Given the description of an element on the screen output the (x, y) to click on. 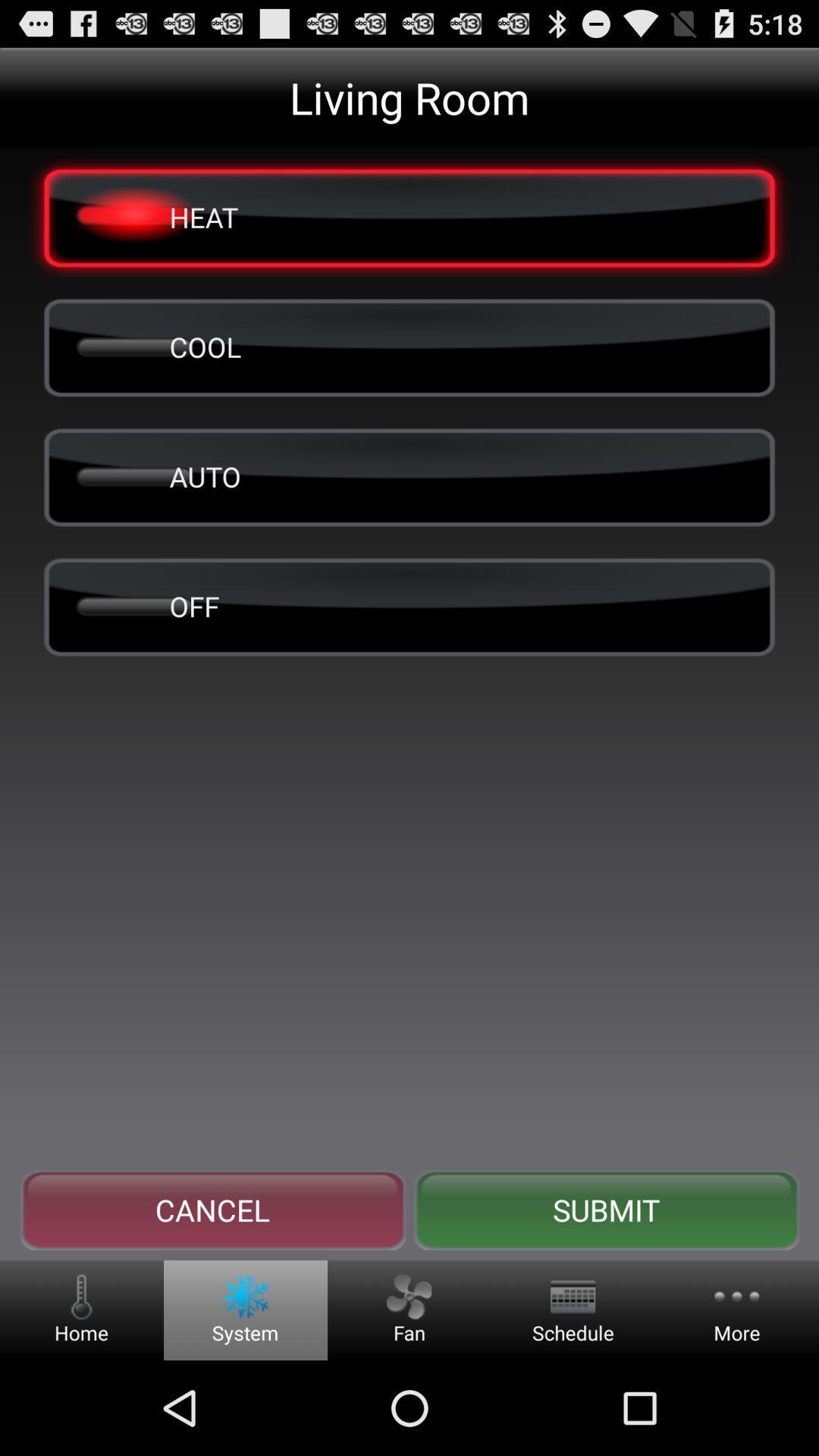
select the icon below off (212, 1210)
